Given the description of an element on the screen output the (x, y) to click on. 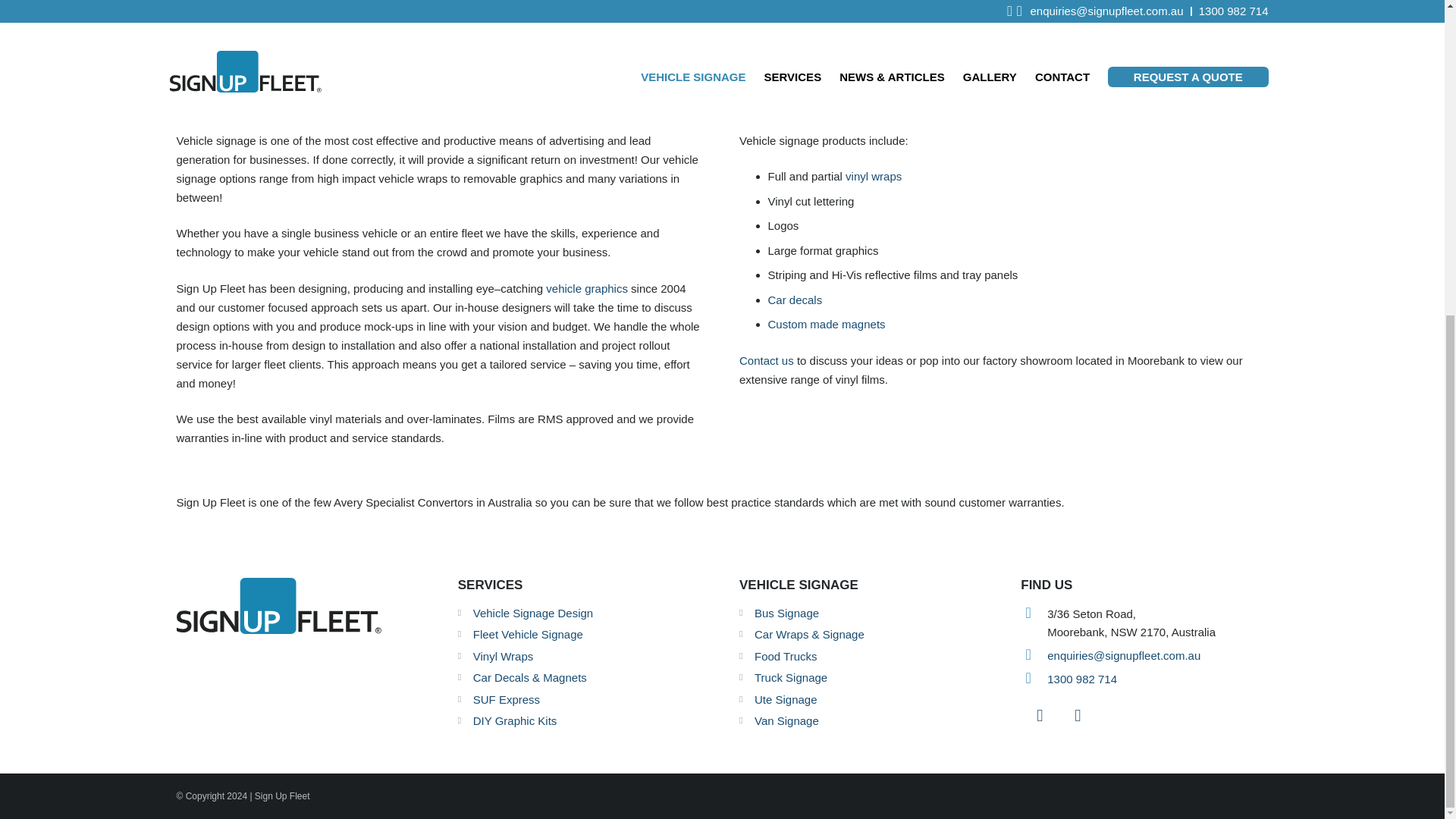
Contact us (766, 359)
Car decals (794, 299)
UTE SIGNAGE (721, 50)
vehicle graphics (586, 287)
Website by HyperWeb (1260, 796)
Sign Up Fleet (299, 595)
Instagram (1077, 715)
VAN SIGNAGE (1097, 50)
vinyl wraps (873, 175)
Facebook (1039, 715)
